Given the description of an element on the screen output the (x, y) to click on. 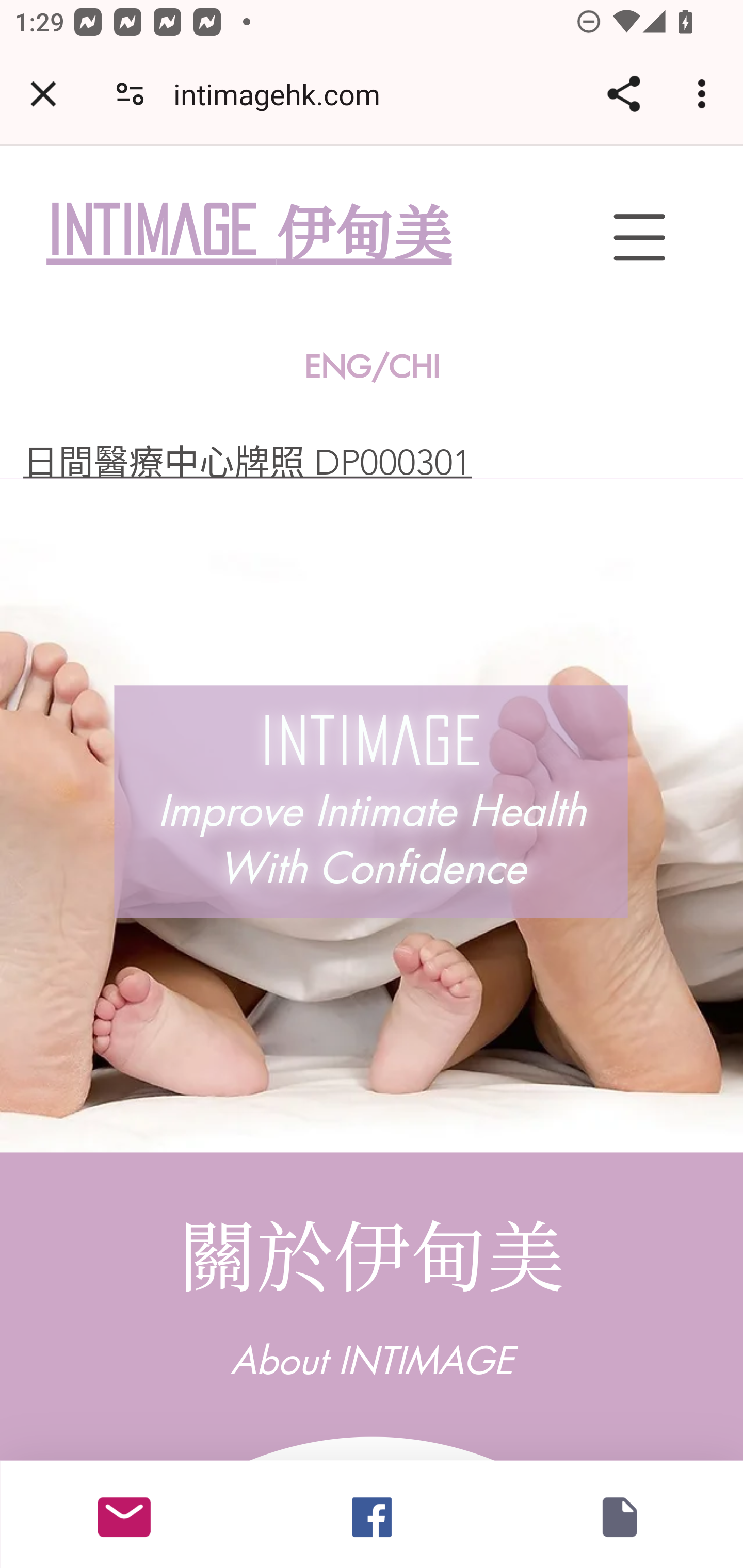
Close tab (43, 93)
Share (623, 93)
Customize and control Google Chrome (705, 93)
Connection is secure (129, 93)
intimagehk.com (283, 93)
Open navigation menu (638, 237)
intimage 伊甸美 intimage 伊甸美 intimage  伊甸美 (291, 233)
ENG/CHI (372, 367)
日間醫療中心牌照 DP000301 (247, 462)
Email (124, 1513)
Facebook (371, 1513)
Book Consultation (618, 1513)
